Given the description of an element on the screen output the (x, y) to click on. 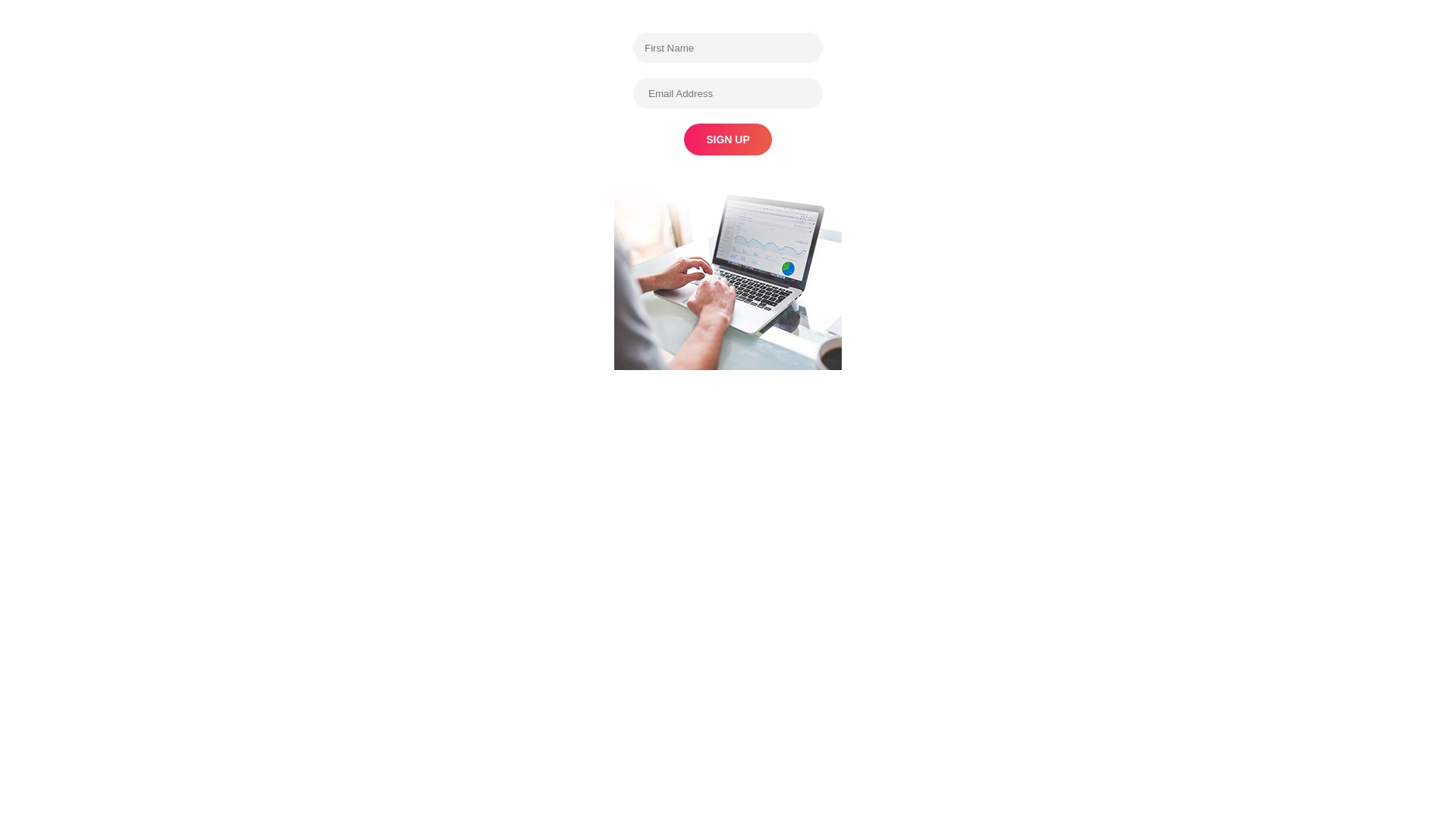
Sign Up Element type: text (727, 139)
